Given the description of an element on the screen output the (x, y) to click on. 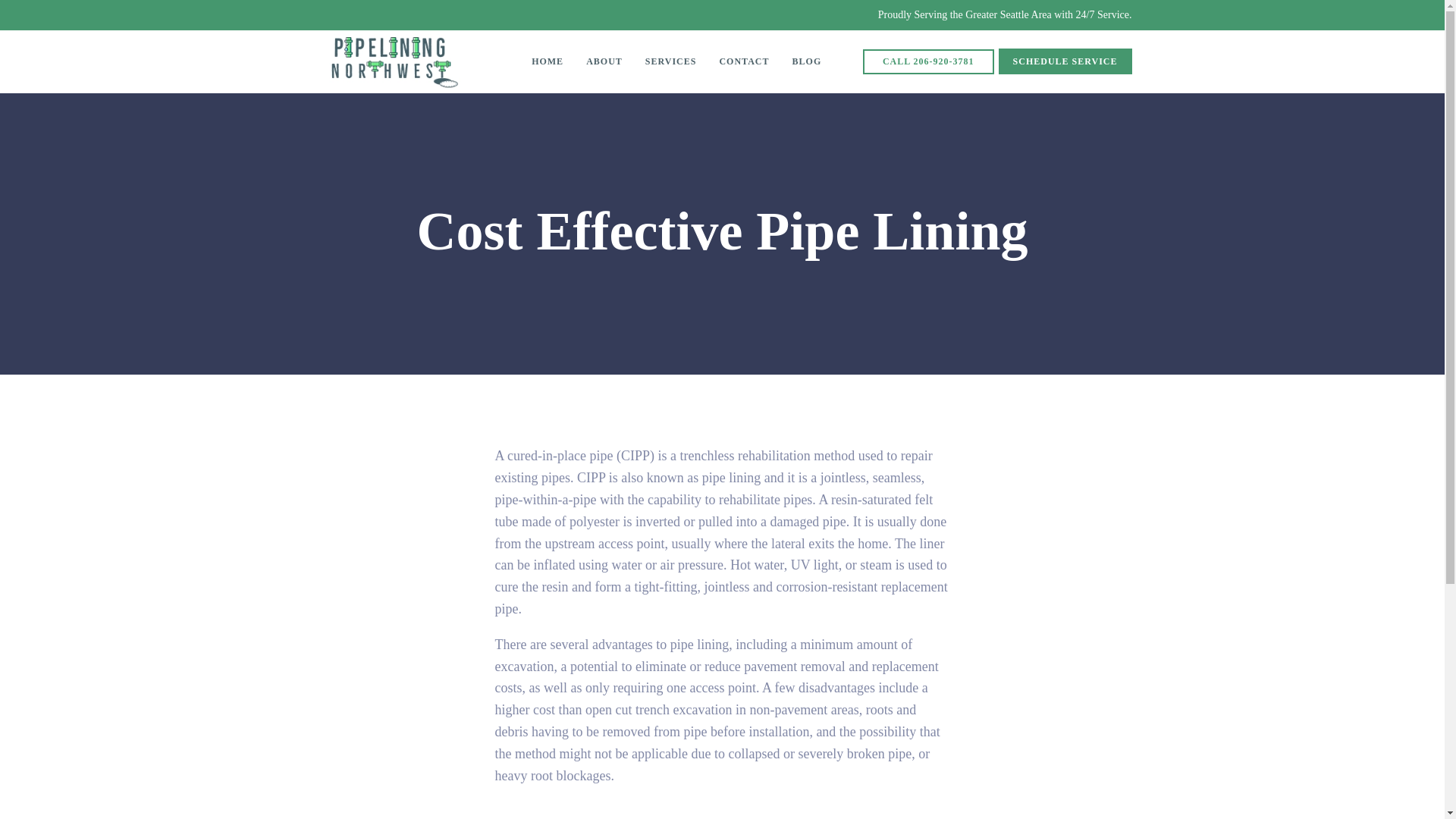
CALL 206-920-3781 (928, 61)
ABOUT (604, 61)
BLOG (806, 61)
SCHEDULE SERVICE (1065, 61)
HOME (547, 61)
SERVICES (670, 61)
CONTACT (743, 61)
